Given the description of an element on the screen output the (x, y) to click on. 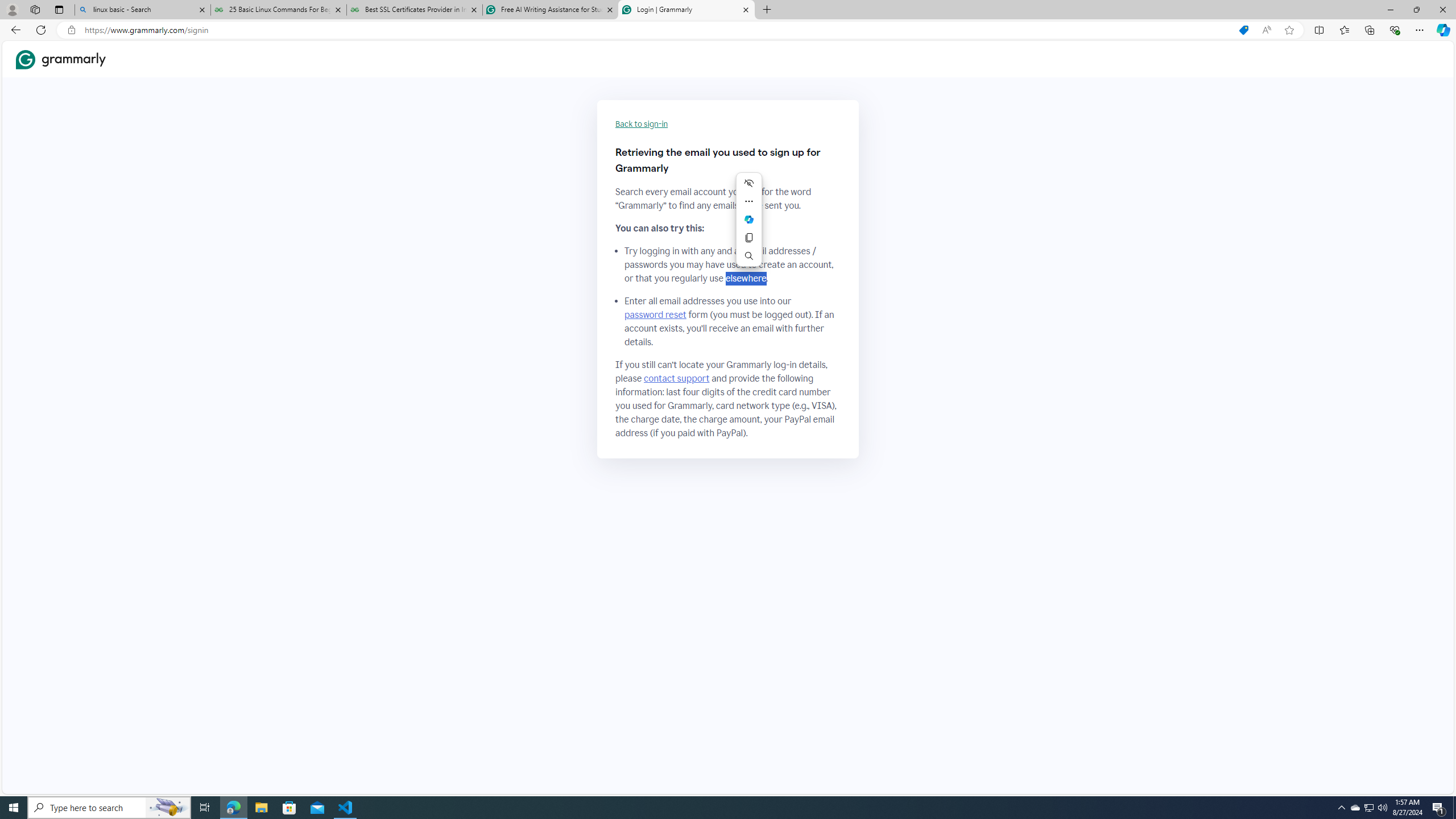
Hide menu (748, 182)
Free AI Writing Assistance for Students | Grammarly (550, 9)
Login | Grammarly (685, 9)
Mini menu on text selection (748, 225)
Grammarly Home (61, 58)
Best SSL Certificates Provider in India - GeeksforGeeks (414, 9)
password reset (654, 314)
